Given the description of an element on the screen output the (x, y) to click on. 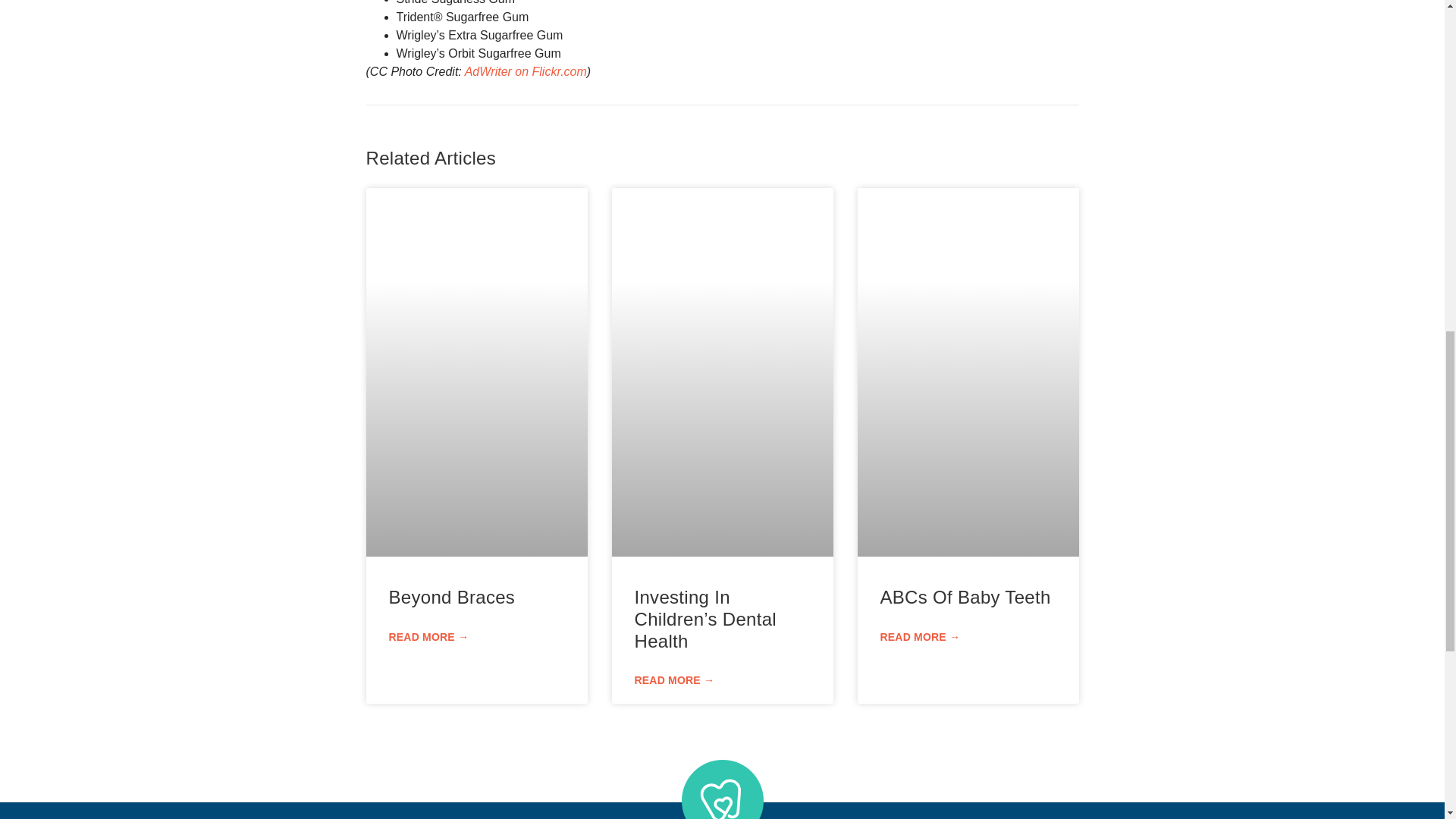
AdWriter on Flickr.com (525, 71)
Beyond Braces (451, 597)
ABCs Of Baby Teeth (964, 597)
